Given the description of an element on the screen output the (x, y) to click on. 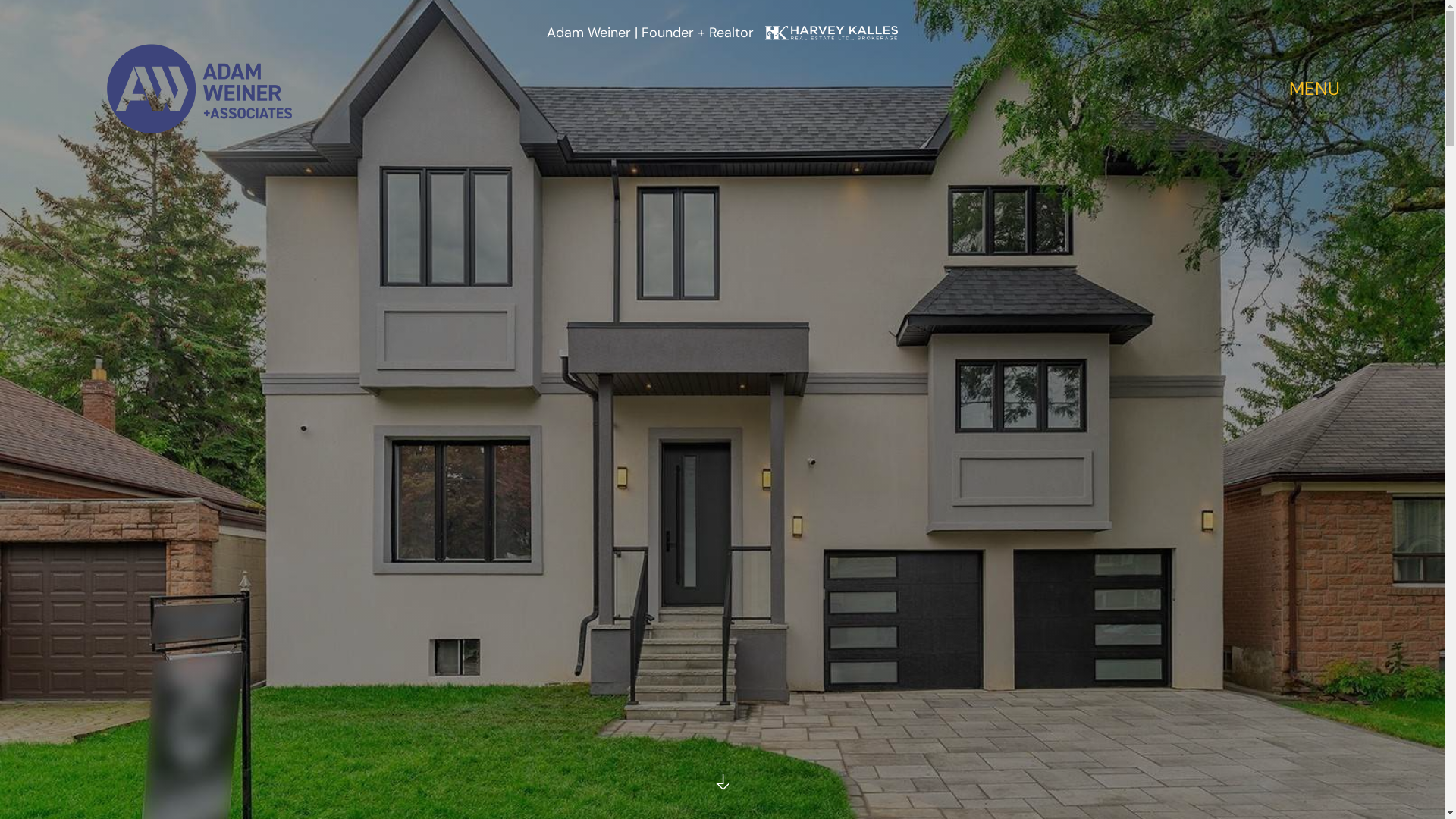
MENU Element type: text (1314, 89)
